Given the description of an element on the screen output the (x, y) to click on. 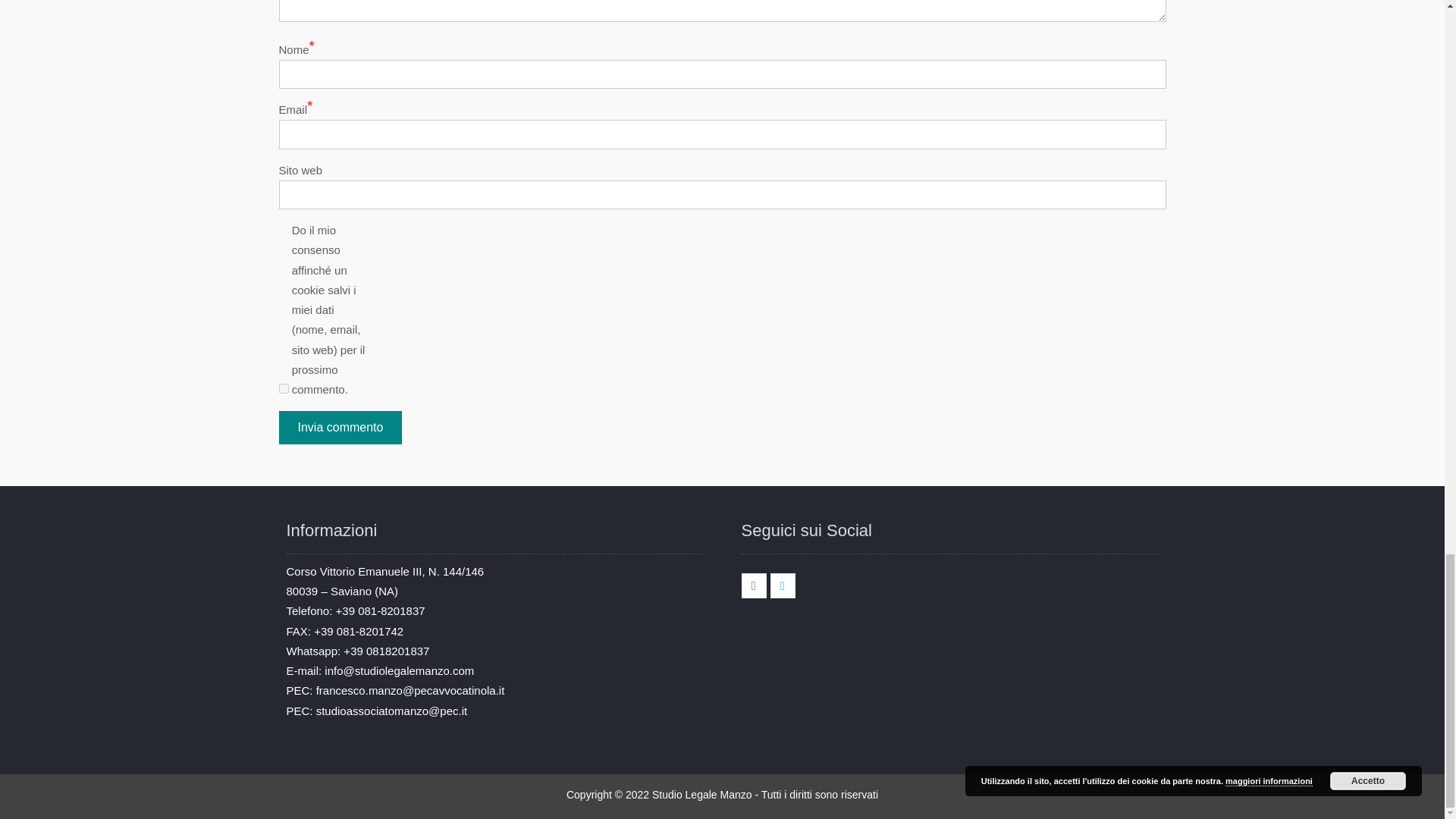
yes (283, 388)
Invia commento (341, 427)
